Given the description of an element on the screen output the (x, y) to click on. 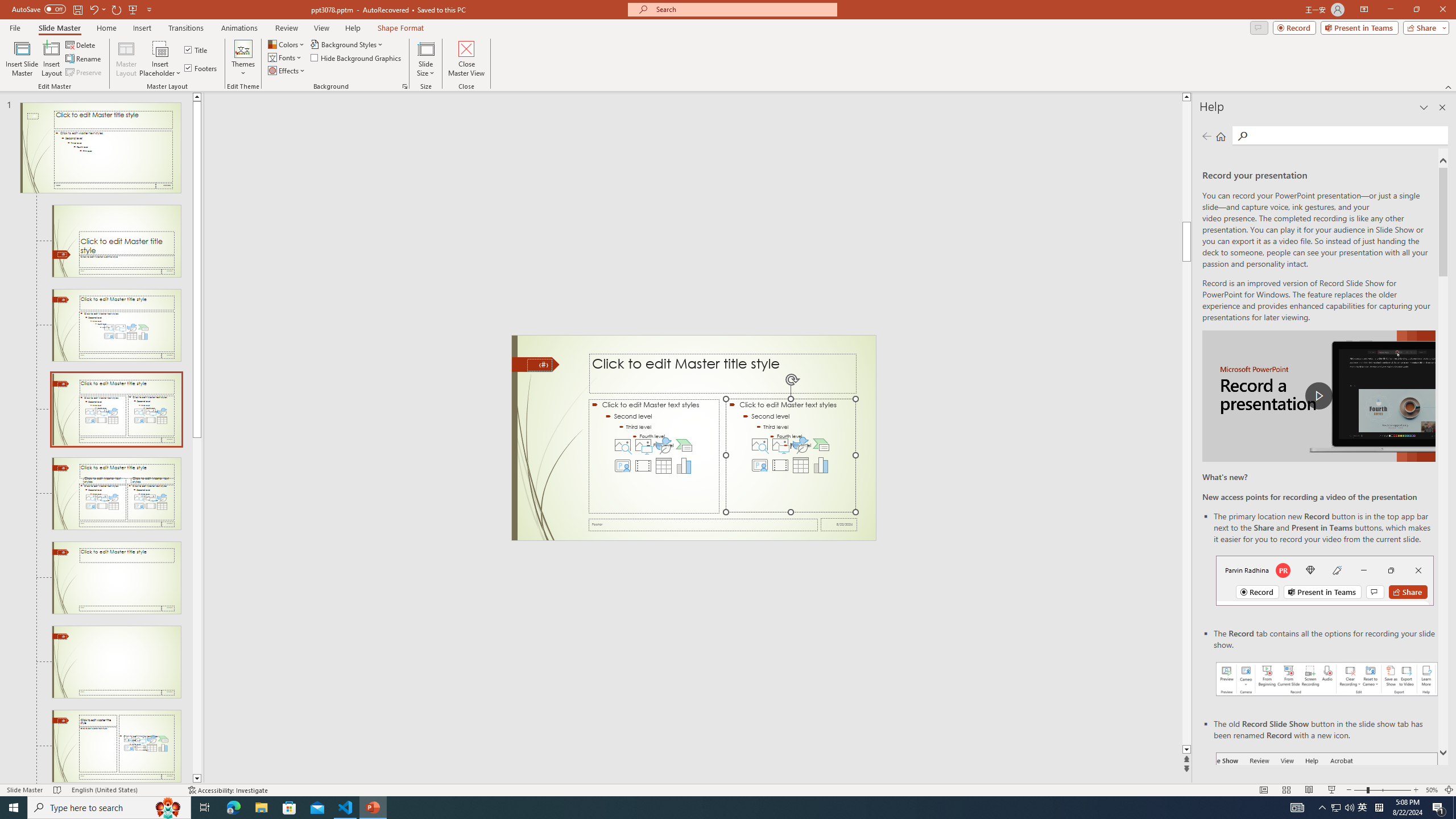
Insert Placeholder (160, 58)
Slide Title Only Layout: used by no slides (116, 661)
Stock Images (759, 444)
Format Background... (404, 85)
Slide Title Slide Layout: used by slide(s) 1 (116, 240)
Content Placeholder (791, 455)
Hide Background Graphics (356, 56)
